Given the description of an element on the screen output the (x, y) to click on. 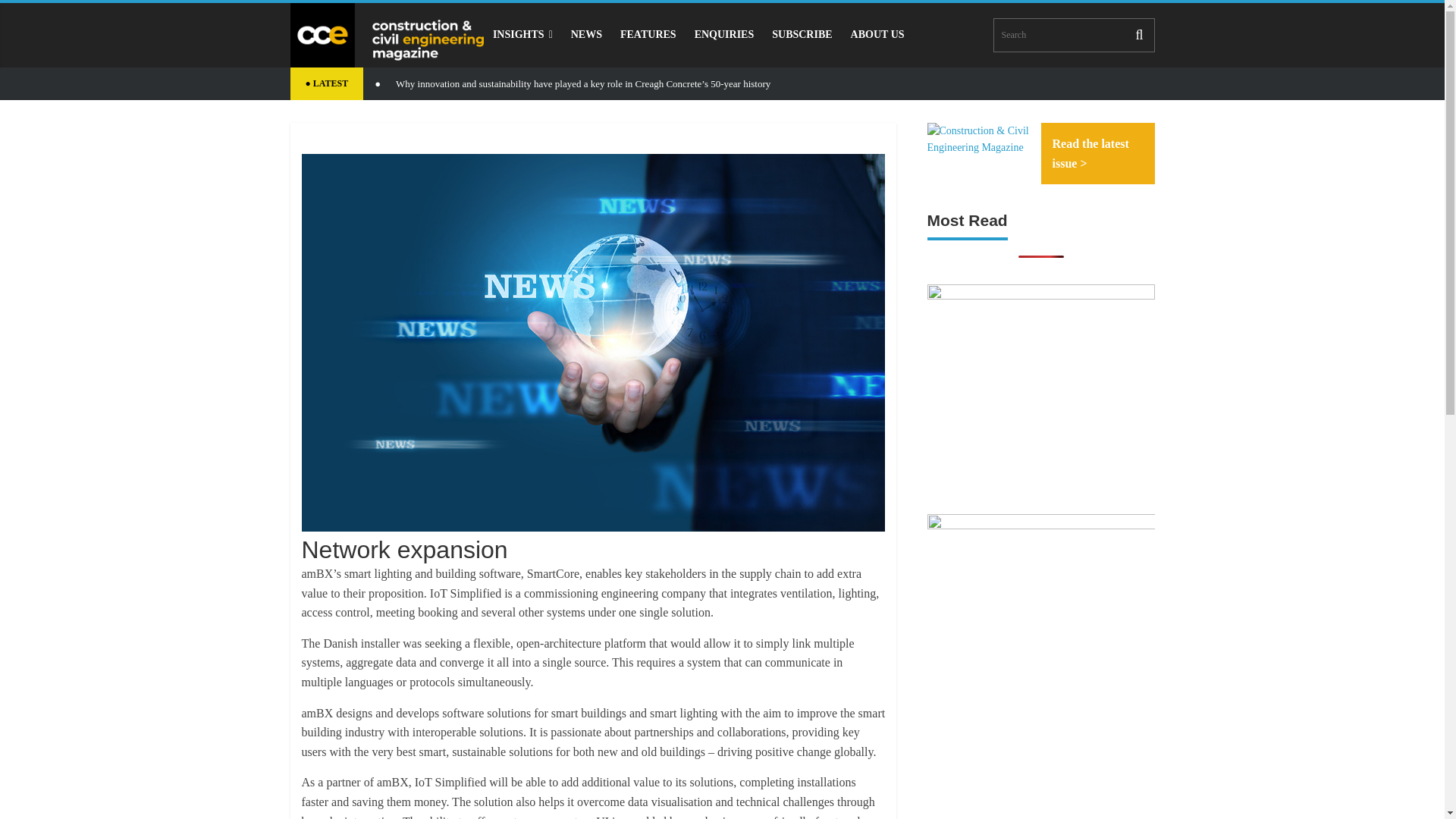
INSIGHTS (522, 34)
FEATURES (648, 34)
ABOUT US (877, 34)
ENQUIRIES (723, 34)
NEWS (586, 34)
SUBSCRIBE (801, 34)
